Given the description of an element on the screen output the (x, y) to click on. 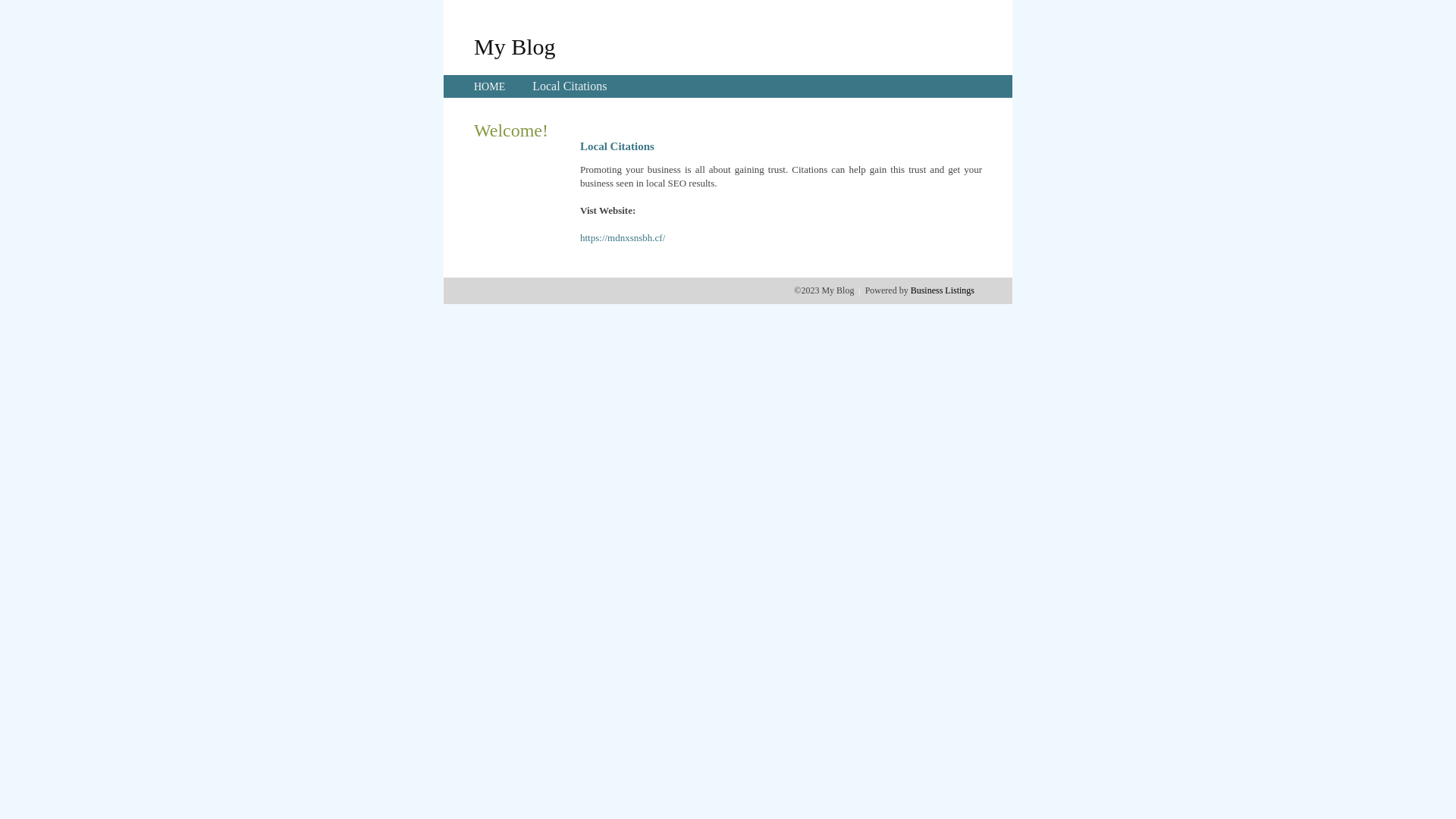
HOME Element type: text (489, 86)
Local Citations Element type: text (569, 85)
https://mdnxsnsbh.cf/ Element type: text (622, 237)
Business Listings Element type: text (942, 290)
My Blog Element type: text (514, 46)
